Given the description of an element on the screen output the (x, y) to click on. 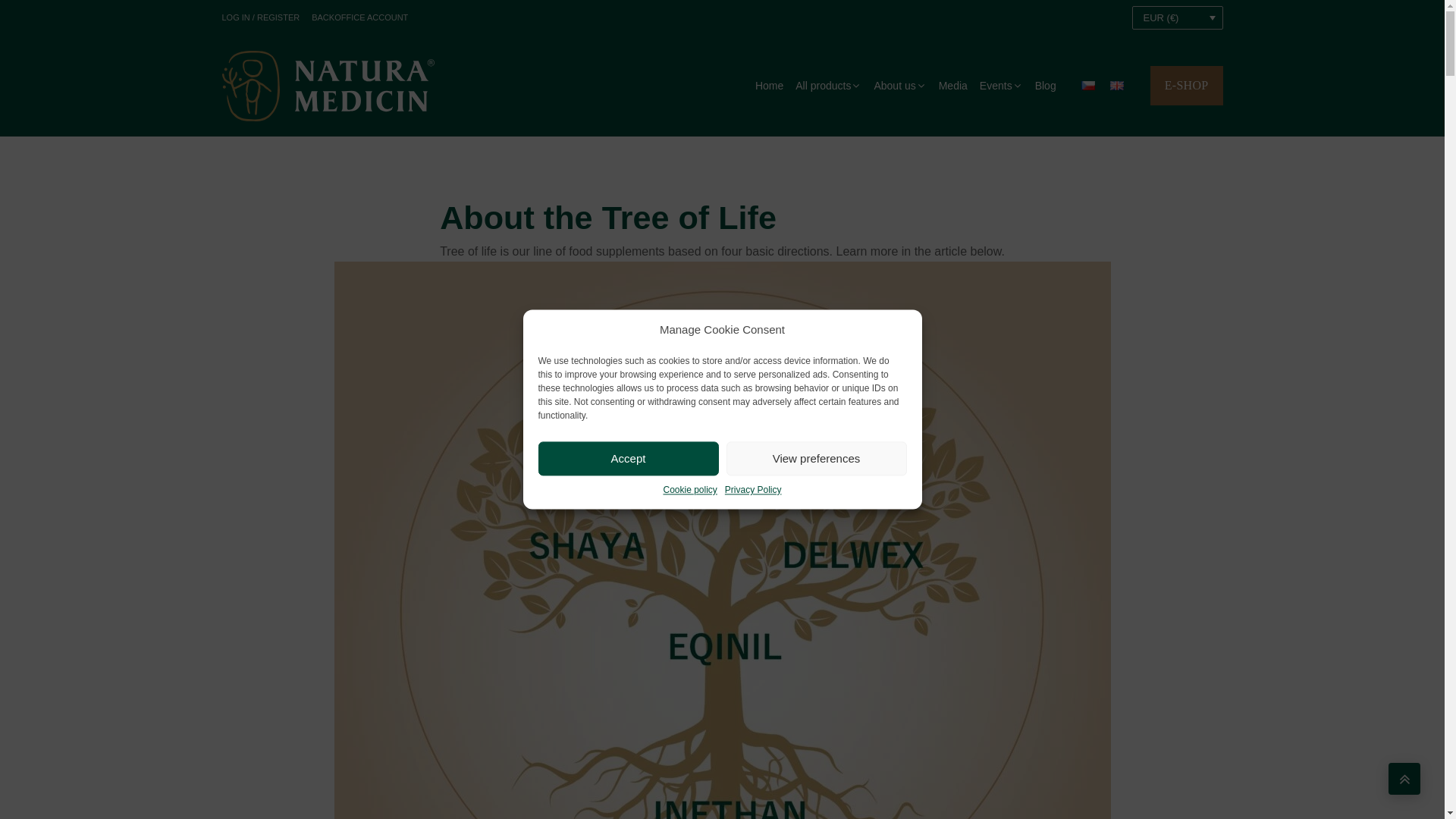
Home (769, 85)
Cookie policy (689, 490)
About us (899, 85)
BACKOFFICE ACCOUNT (359, 18)
All products (828, 85)
Accept (628, 458)
View preferences (816, 458)
Privacy Policy (753, 490)
